Given the description of an element on the screen output the (x, y) to click on. 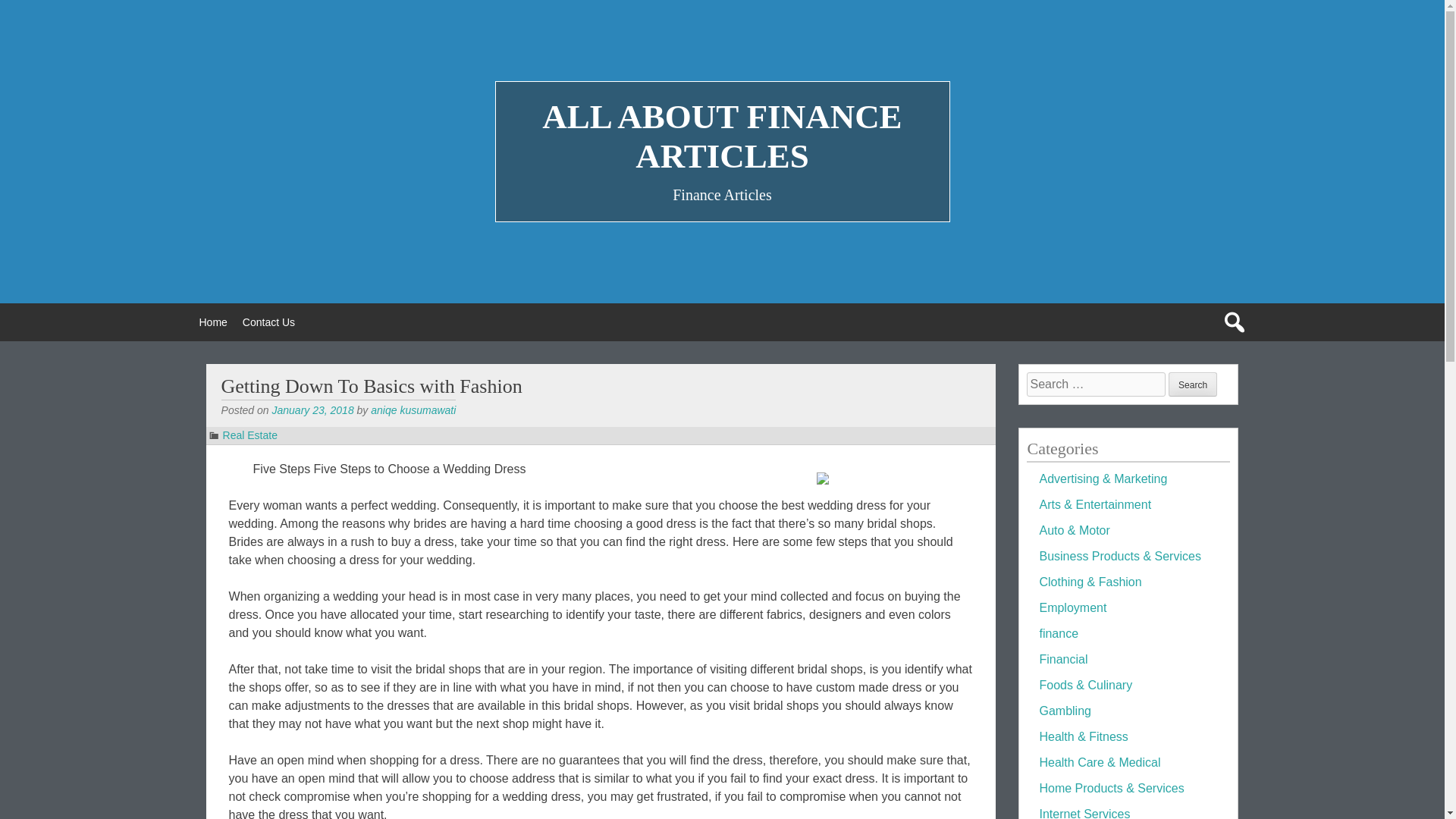
Real Estate (250, 435)
Financial (1063, 658)
Search (1193, 384)
aniqe kusumawati (413, 410)
Employment (1072, 607)
Internet Services (1084, 813)
Home (212, 322)
ALL ABOUT FINANCE ARTICLES (721, 136)
Search (1193, 384)
Contact Us (268, 322)
